Given the description of an element on the screen output the (x, y) to click on. 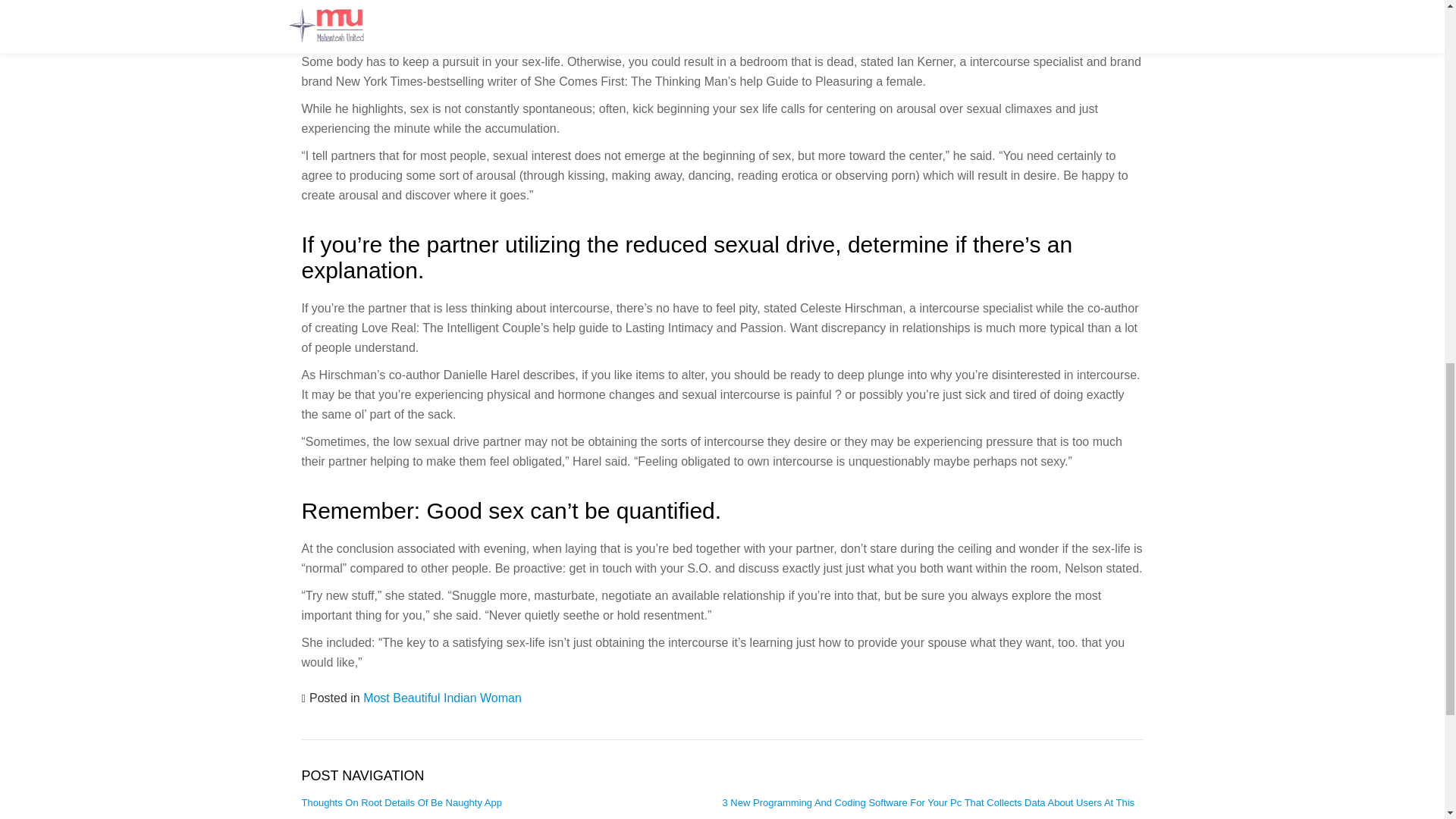
Thoughts On Root Details Of Be Naughty App (401, 802)
Most Beautiful Indian Woman (441, 697)
